Given the description of an element on the screen output the (x, y) to click on. 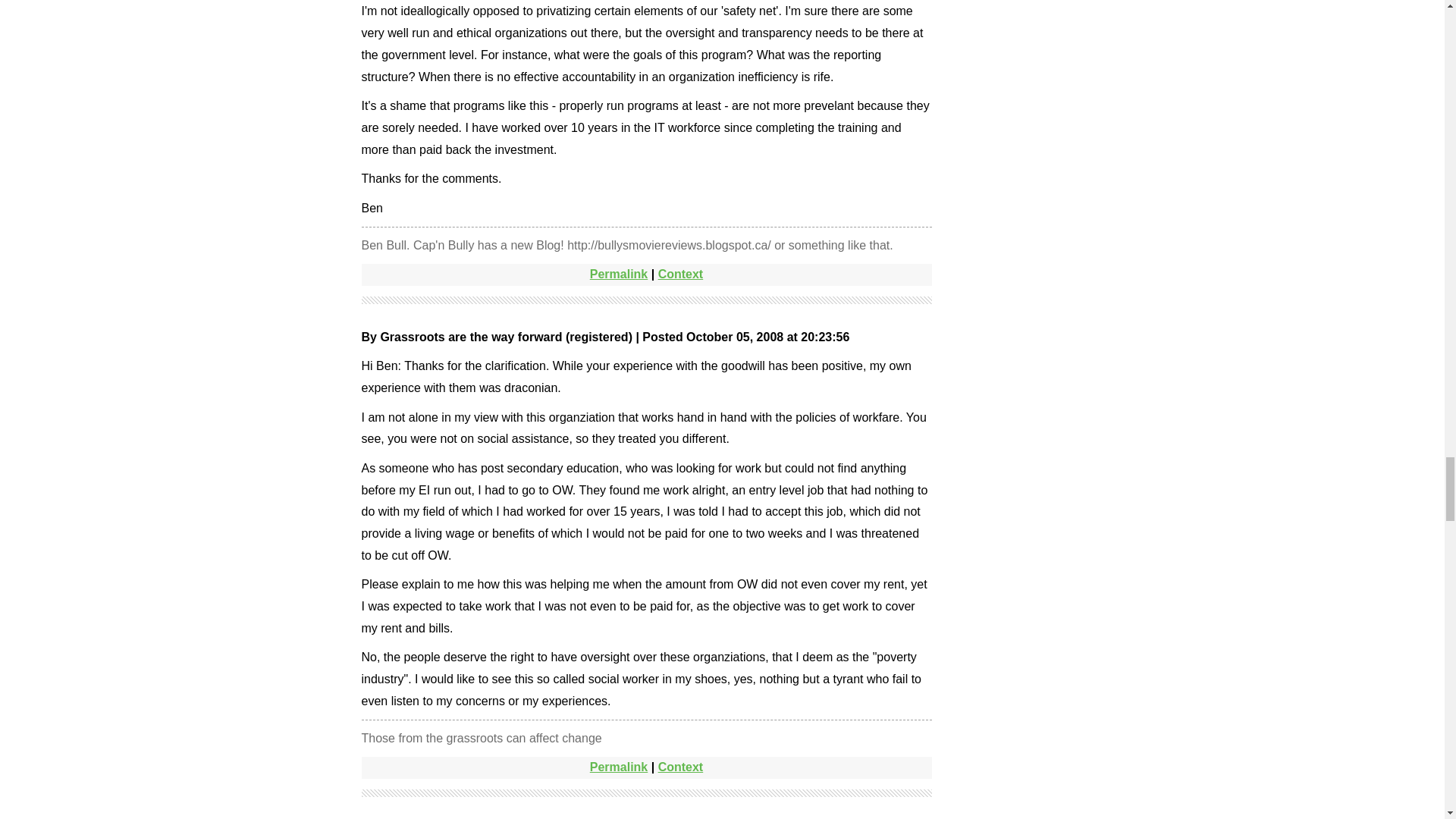
Permalink (618, 273)
Context (680, 273)
